Given the description of an element on the screen output the (x, y) to click on. 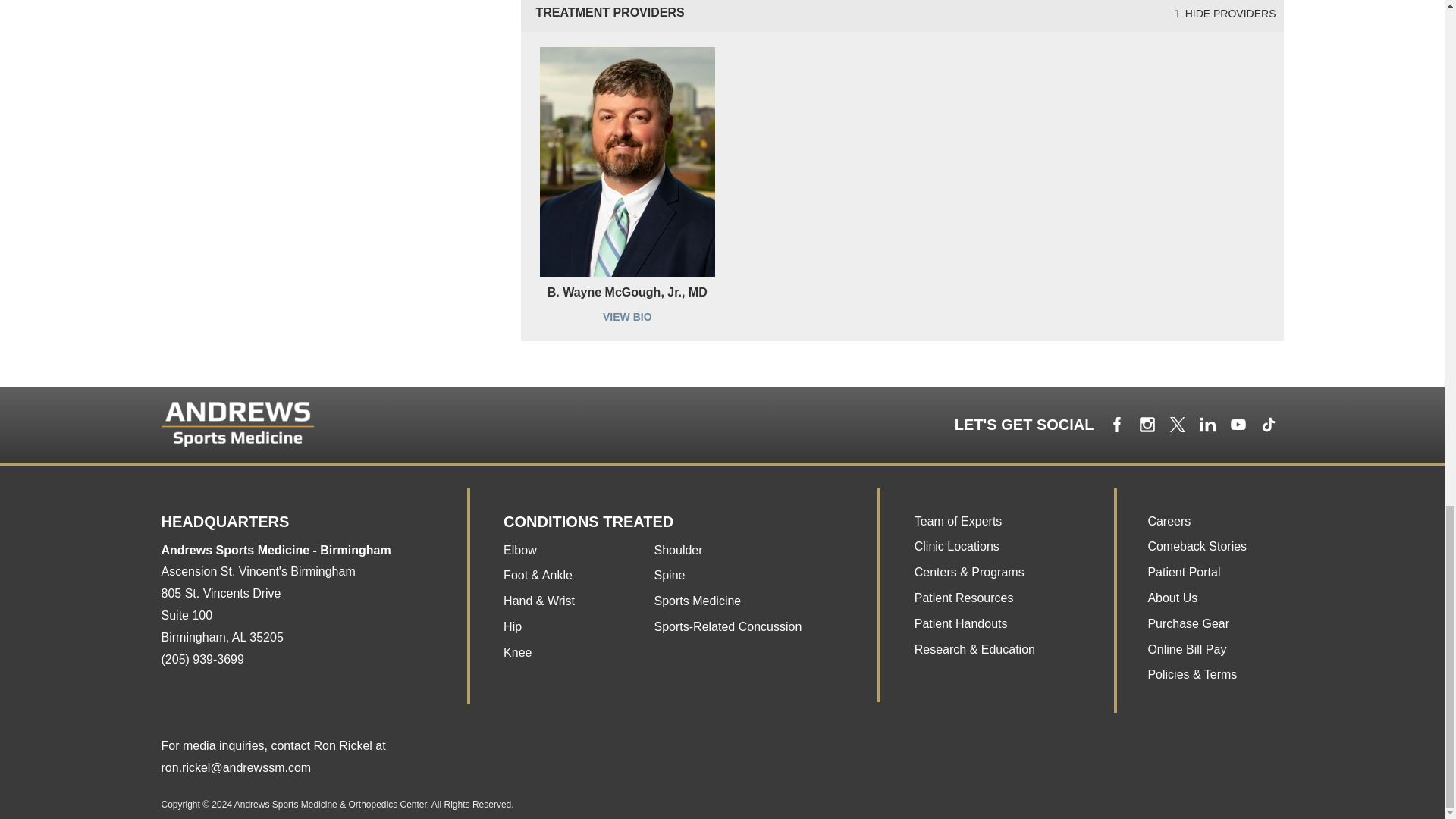
Elbow (520, 549)
Spine (669, 574)
Team of Experts (958, 521)
Hip (512, 626)
Knee (517, 652)
VIEW BIO (627, 316)
Shoulder (678, 549)
Clinic Locations (221, 615)
Sports-Related Concussion (956, 545)
Sports Medicine (727, 626)
